Given the description of an element on the screen output the (x, y) to click on. 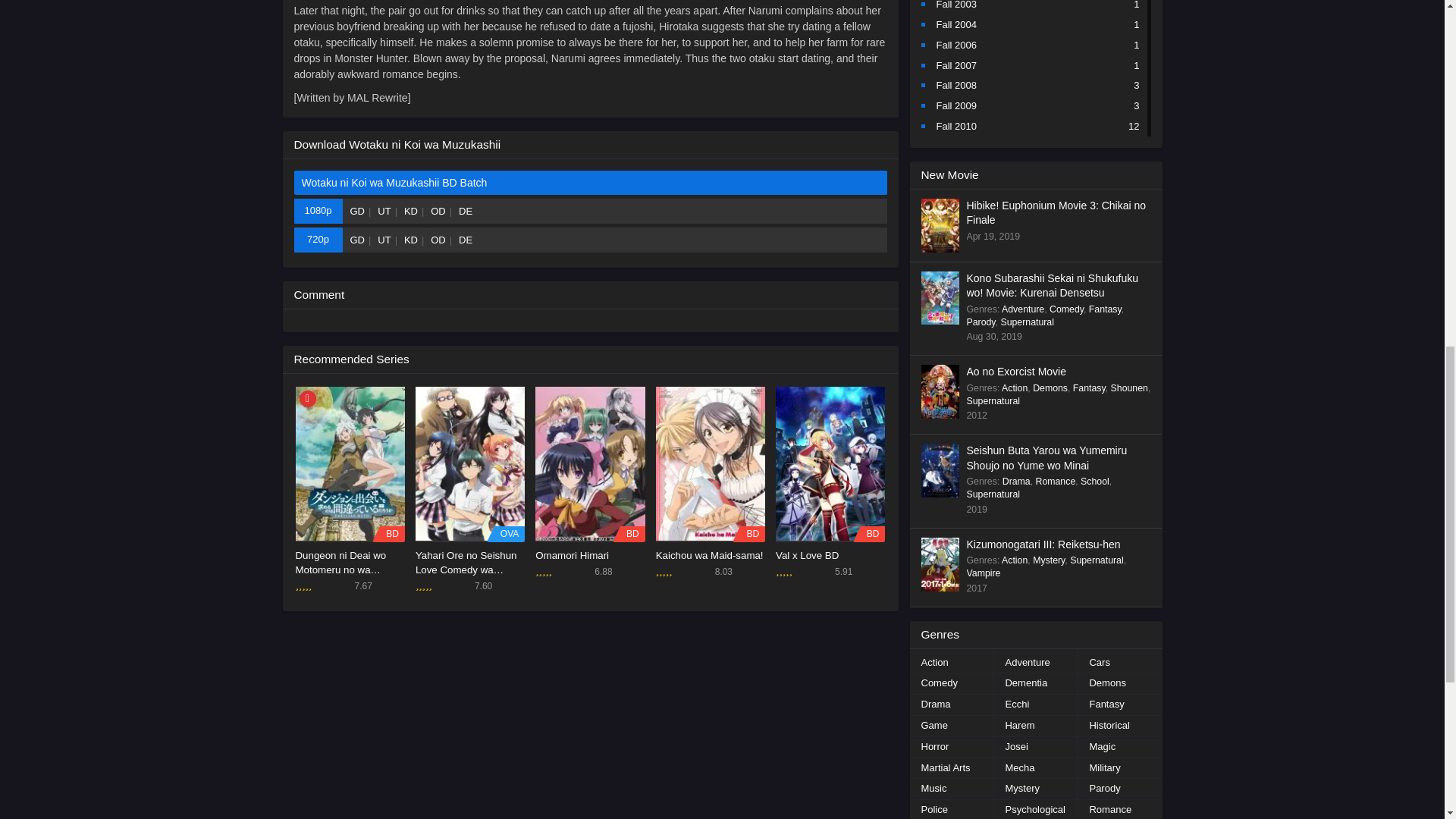
GD (362, 240)
KD (416, 211)
UT (389, 240)
OD (442, 211)
UT (389, 211)
KD (416, 240)
OD (442, 240)
GD (362, 211)
